Given the description of an element on the screen output the (x, y) to click on. 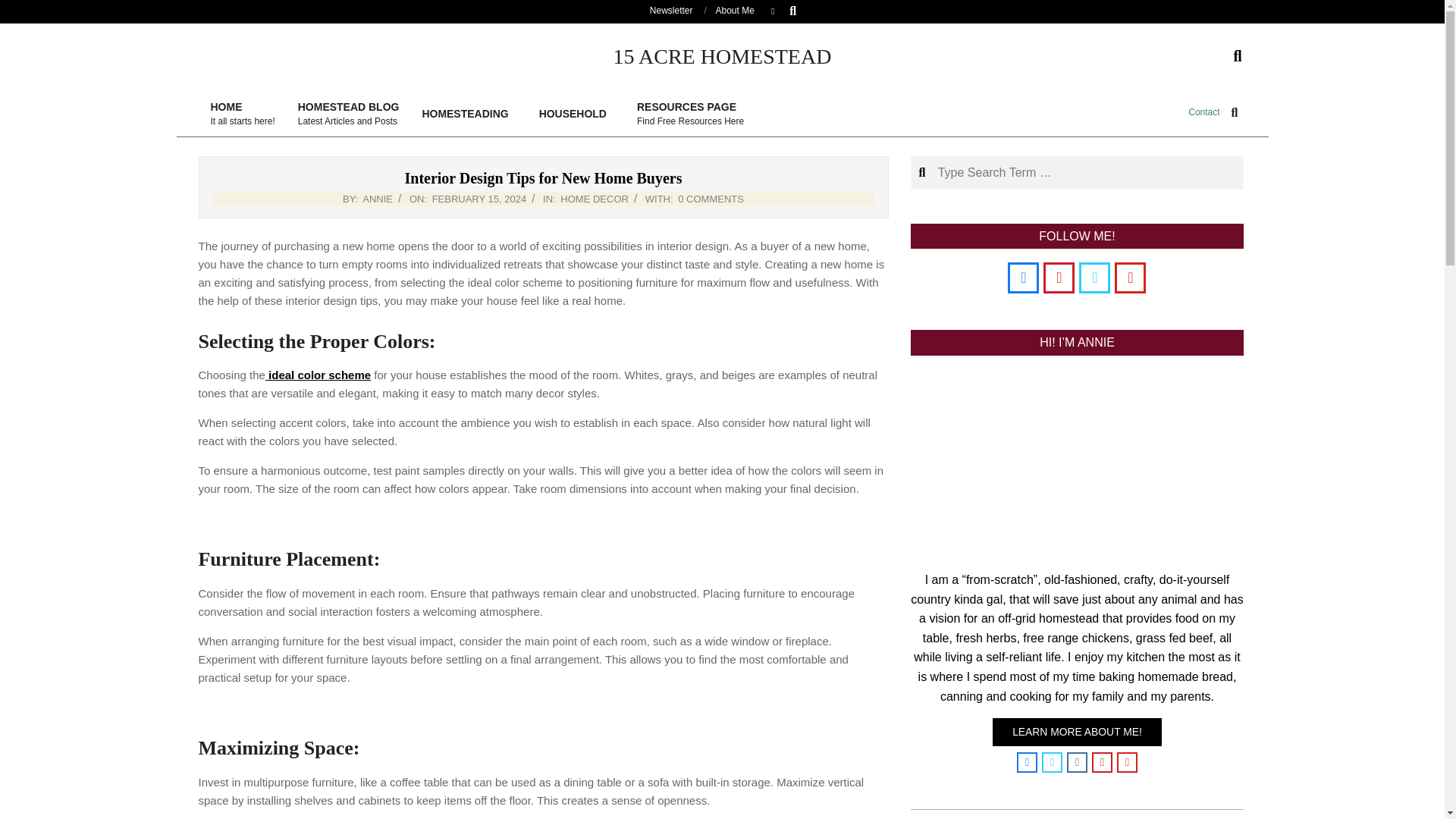
HOMESTEADING (468, 113)
HOUSEHOLD (576, 113)
About Me (735, 9)
Newsletter (671, 9)
ideal color scheme (317, 374)
Search (21, 8)
Contact (348, 113)
HOME DECOR (1204, 112)
Search (690, 113)
Posts by Annie (594, 198)
15 ACRE HOMESTEAD (24, 9)
Thursday, February 15, 2024, 11:54 am (377, 198)
